Given the description of an element on the screen output the (x, y) to click on. 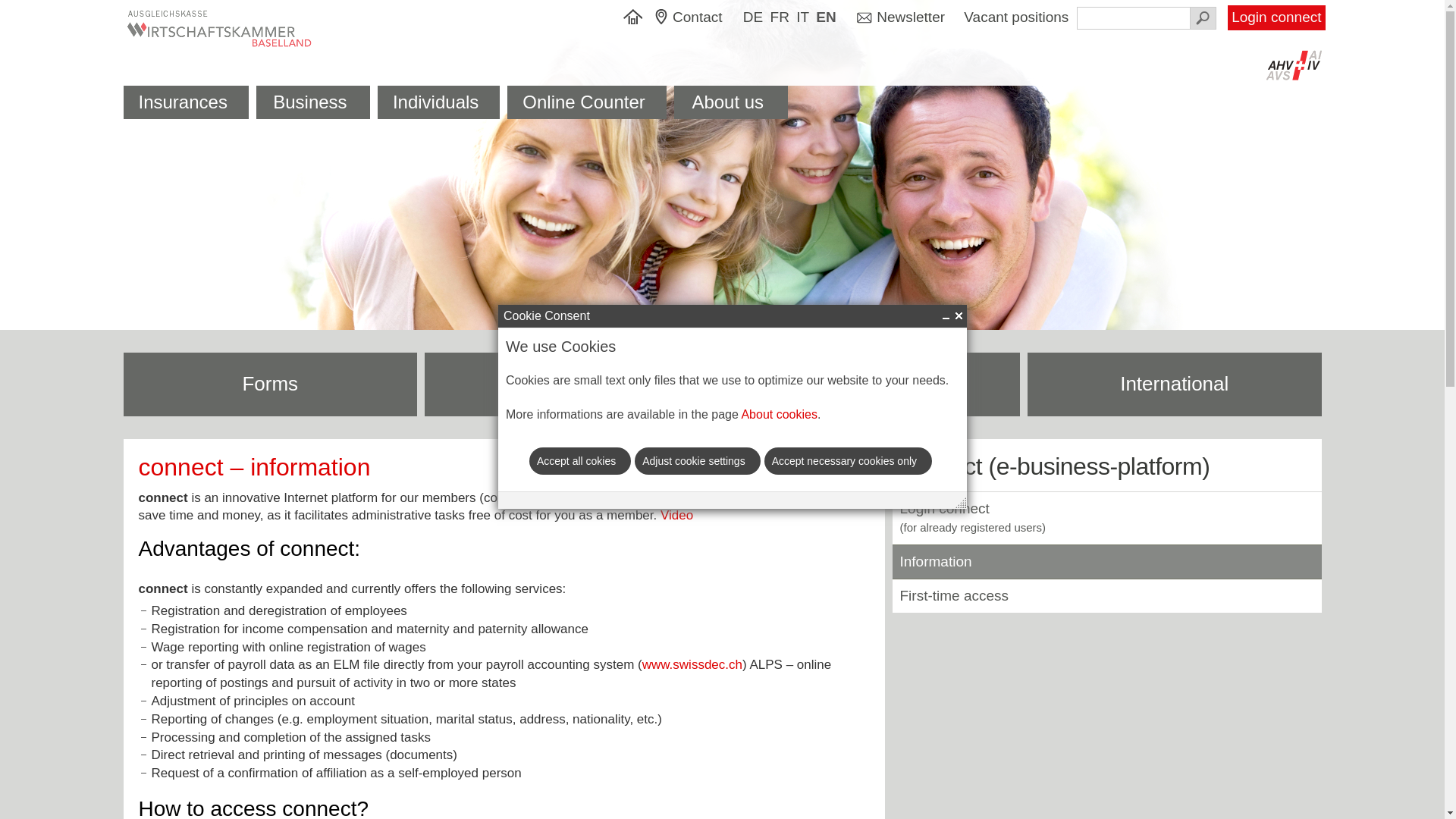
Login connect
(for already registered users) Element type: text (972, 517)
First-time access Element type: text (953, 595)
DE Element type: text (752, 17)
Video Element type: text (676, 515)
International Element type: text (1174, 384)
Contact Element type: text (695, 17)
Leaflets Element type: text (571, 384)
Vacant positions Element type: text (1017, 17)
Close Element type: hover (959, 315)
Individuals Element type: text (438, 102)
Minimize Element type: hover (945, 315)
www.swissdec.ch Element type: text (692, 664)
FR Element type: text (779, 17)
Business Element type: text (313, 102)
Login connect Element type: text (1275, 17)
Online Counter Element type: text (586, 102)
About us Element type: text (730, 102)
Forms Element type: text (269, 384)
Newsletter Element type: text (900, 17)
search Element type: hover (1202, 17)
Life situations Element type: text (873, 384)
IT Element type: text (802, 17)
Insurances Element type: text (184, 102)
